Given the description of an element on the screen output the (x, y) to click on. 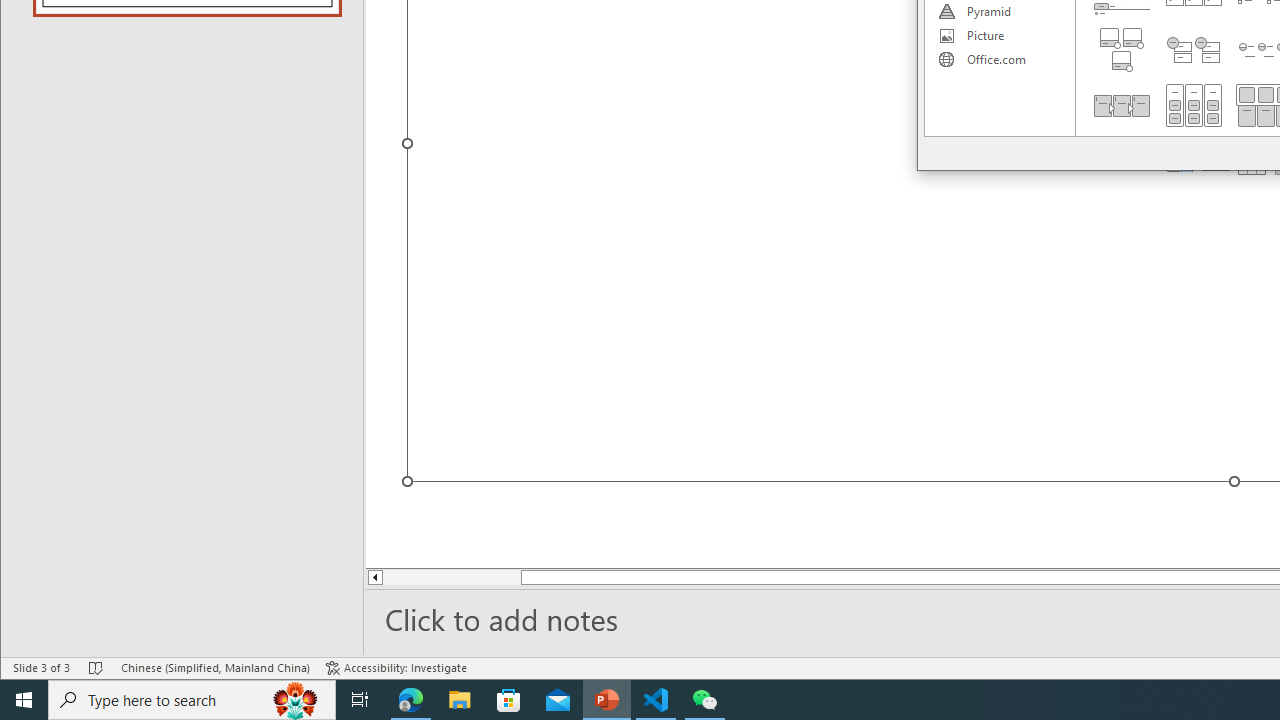
Grouped List (1194, 105)
